Given the description of an element on the screen output the (x, y) to click on. 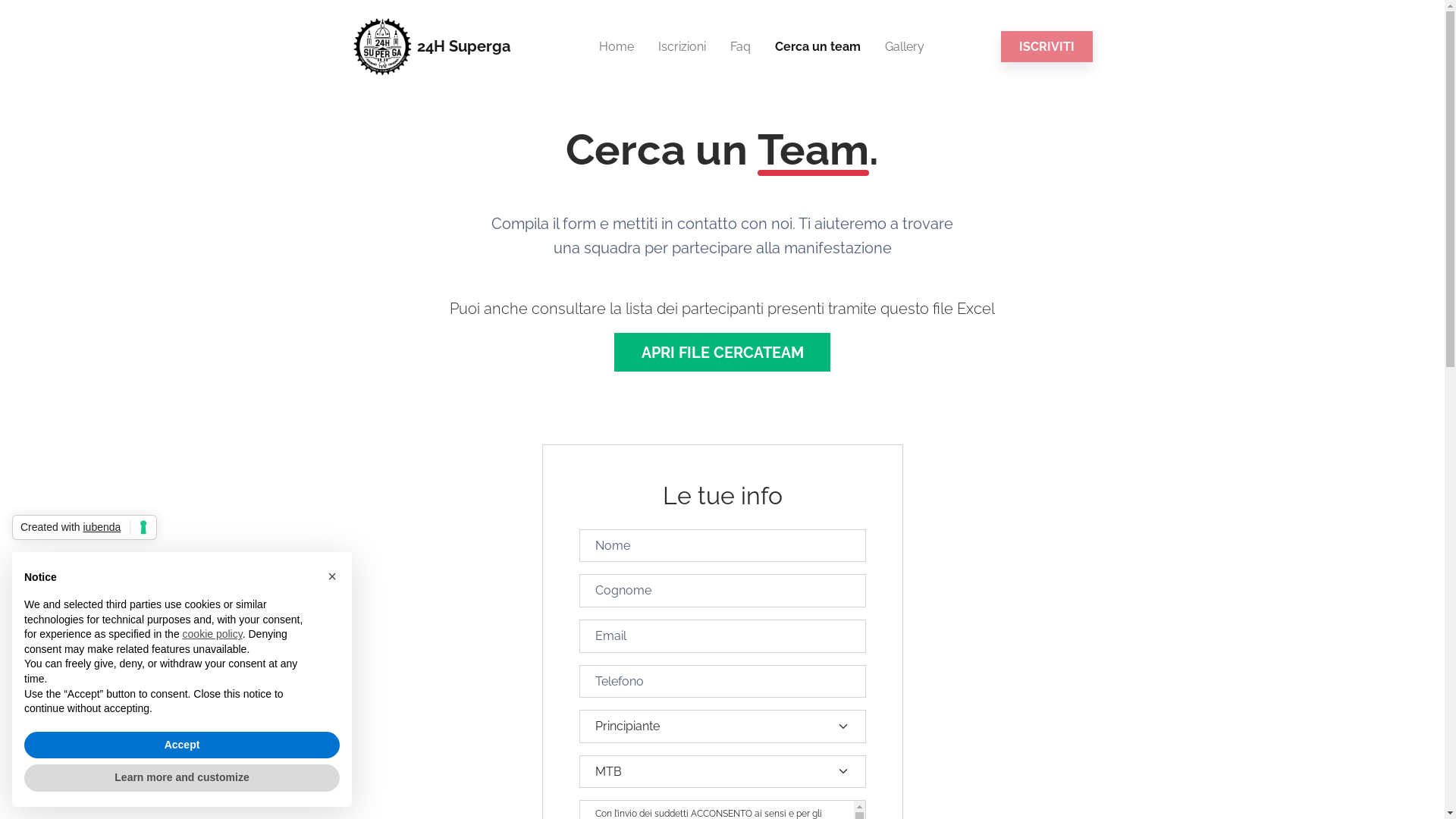
APRI FILE CERCATEAM Element type: text (721, 351)
Home Element type: text (616, 46)
Accept Element type: text (181, 745)
Faq Element type: text (739, 46)
Categorie Element type: text (717, 30)
Cerca un team Element type: text (817, 46)
Learn more and customize Element type: text (181, 777)
Created with iubenda Element type: text (84, 527)
Iscrizioni Element type: text (682, 46)
24H Superga Element type: text (430, 46)
Gallery Element type: text (903, 46)
cookie policy Element type: text (212, 633)
ISCRIVITI Element type: text (1046, 46)
